Given the description of an element on the screen output the (x, y) to click on. 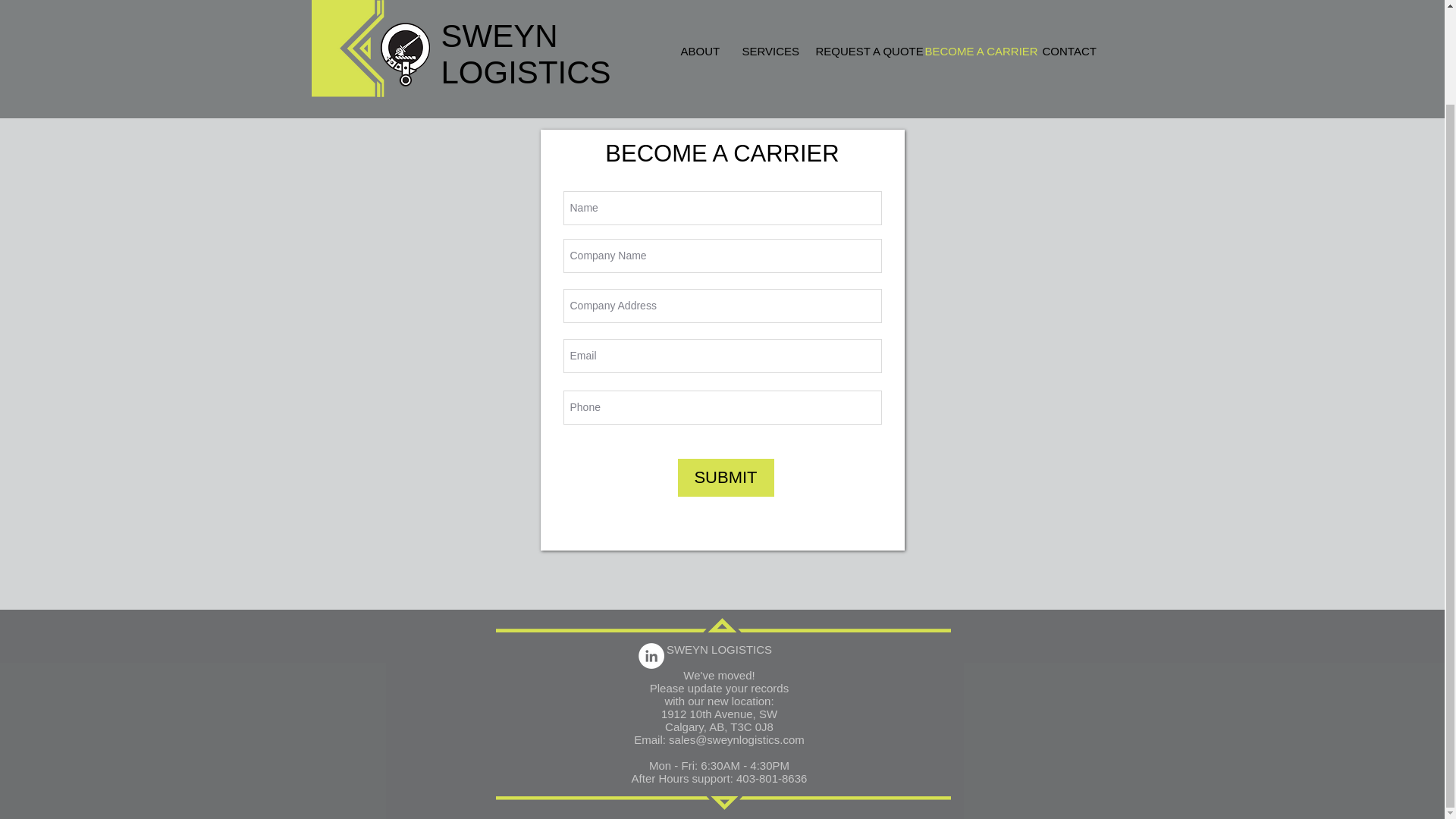
SUBMIT (726, 477)
